Given the description of an element on the screen output the (x, y) to click on. 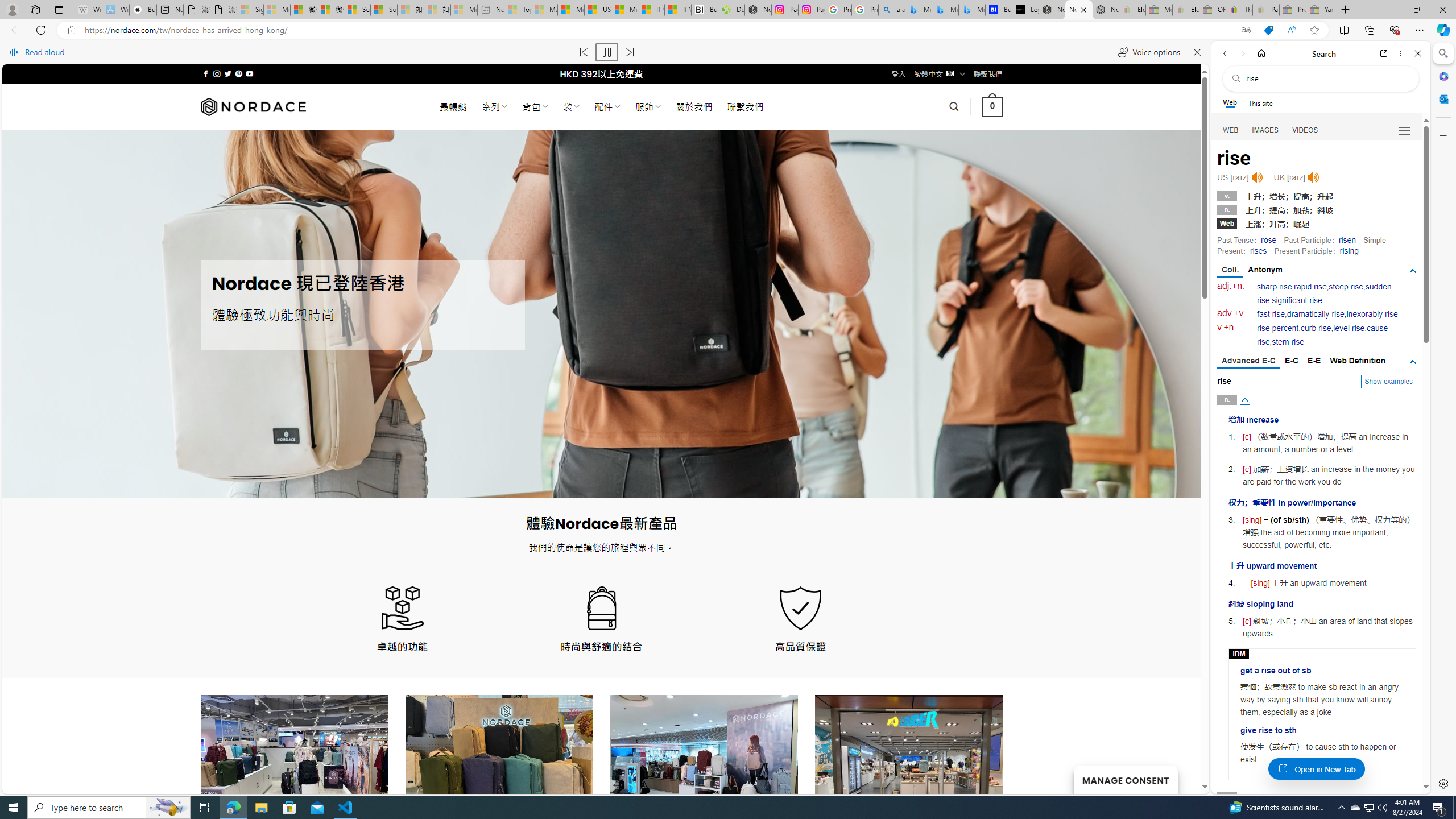
level rise (1349, 328)
